Given the description of an element on the screen output the (x, y) to click on. 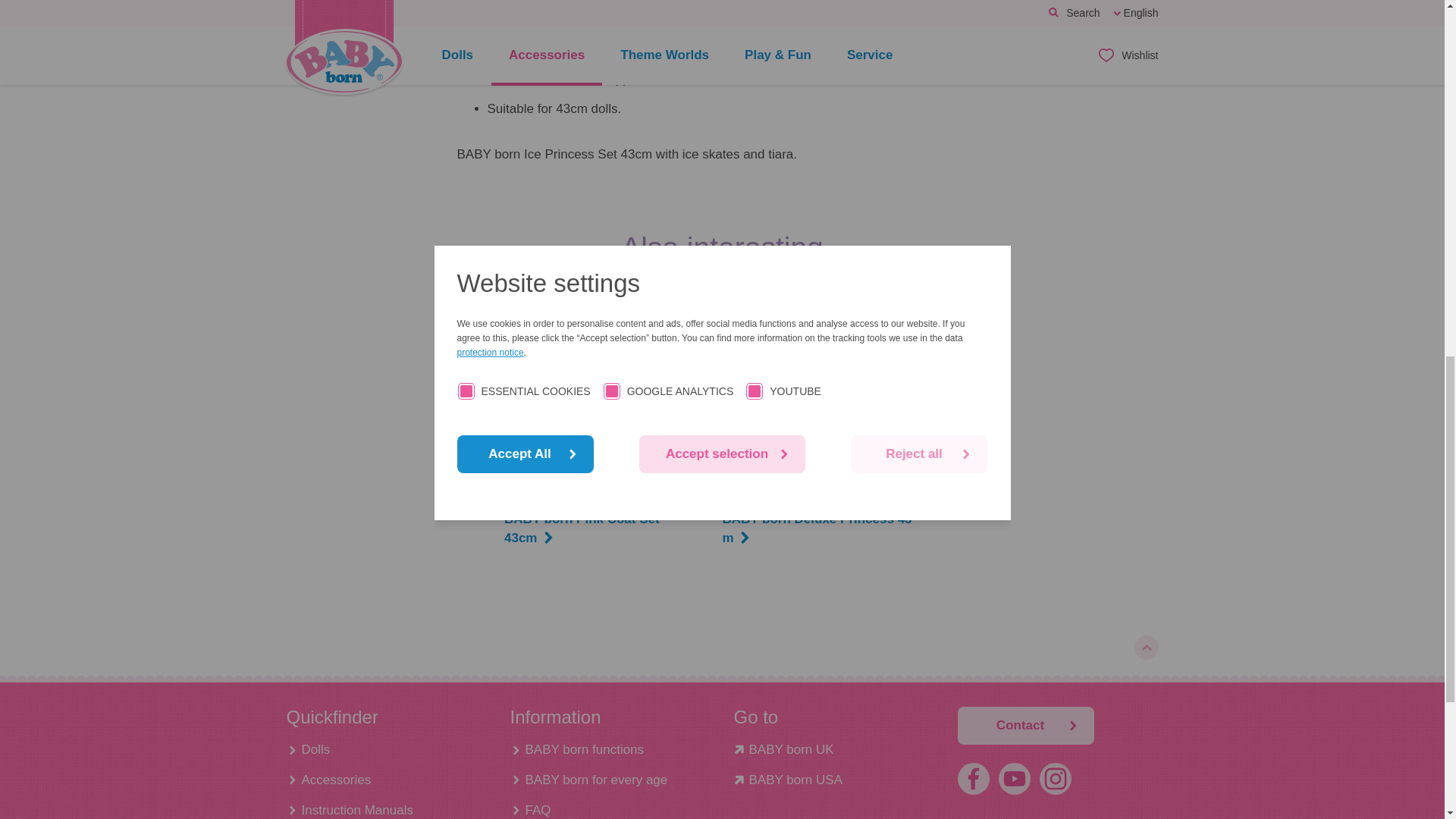
BABY born Pink Coat Set 43cm (601, 529)
BABY born Deluxe Princess 43 m (819, 401)
BABY born Deluxe Princess 43 m (820, 529)
BABY born Pink Coat Set 43cm (601, 401)
